Given the description of an element on the screen output the (x, y) to click on. 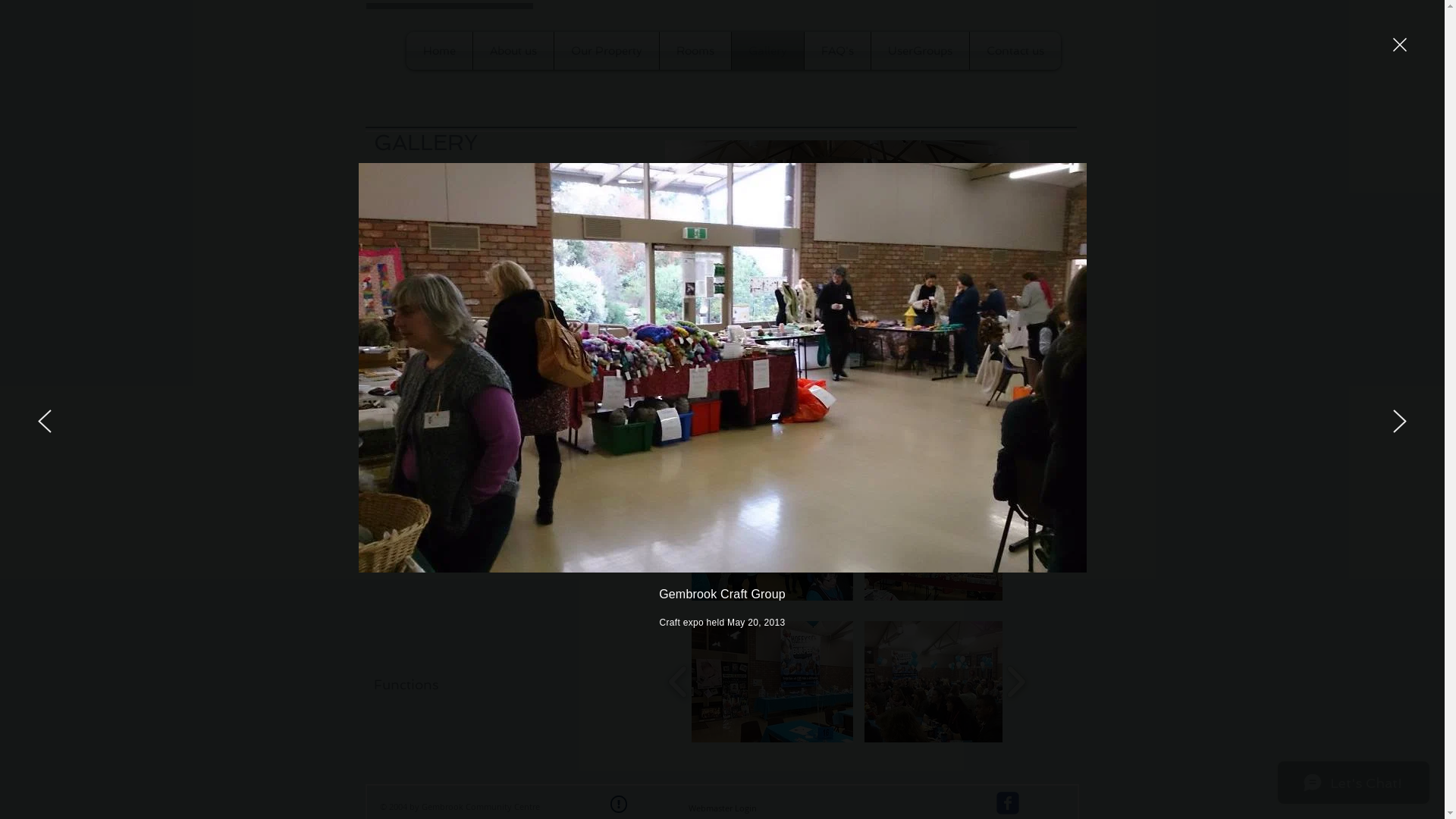
Home Element type: text (439, 50)
About us Element type: text (513, 50)
Rooms Element type: text (695, 50)
Chairs - New padded.JPG Element type: hover (745, 398)
UserGroups Element type: text (919, 50)
FAQ's Element type: text (836, 50)
Our Property Element type: text (605, 50)
Contact us Element type: text (1014, 50)
Webmaster Login Element type: text (721, 807)
Gallery Element type: text (767, 50)
